Given the description of an element on the screen output the (x, y) to click on. 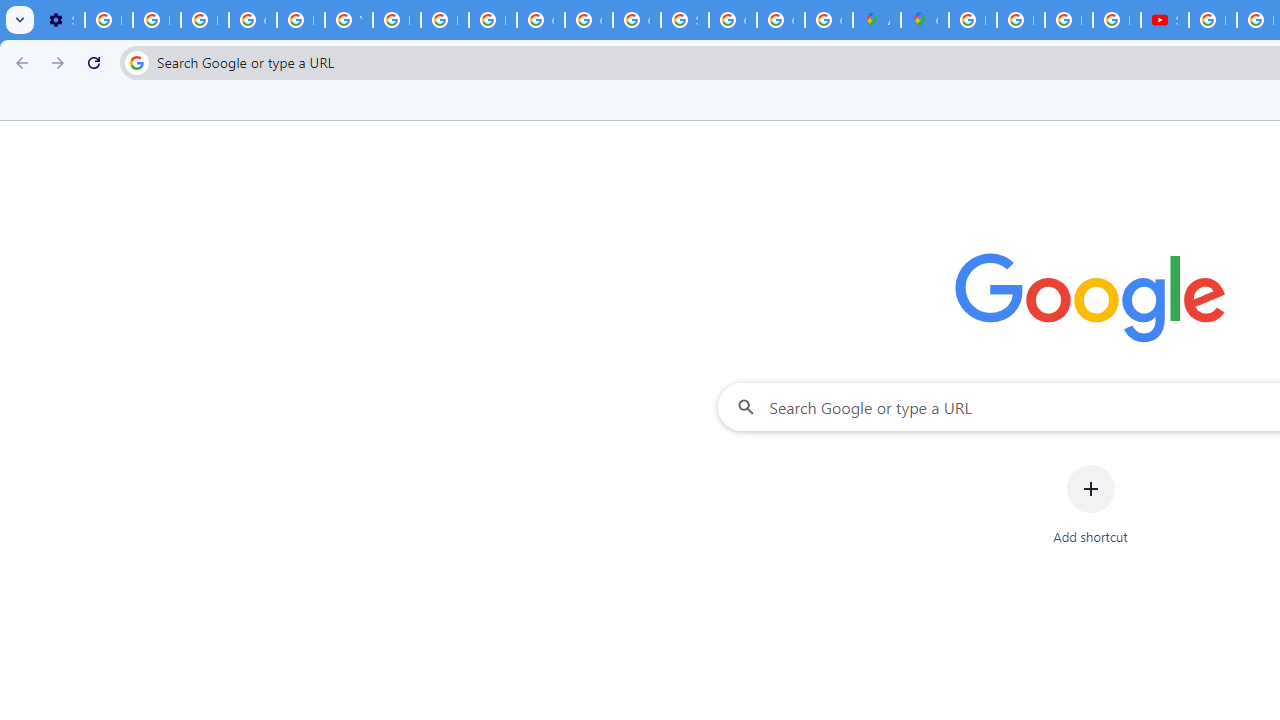
Add shortcut (1090, 504)
Blogger Policies and Guidelines - Transparency Center (972, 20)
Subscriptions - YouTube (1164, 20)
Google Maps (924, 20)
